Given the description of an element on the screen output the (x, y) to click on. 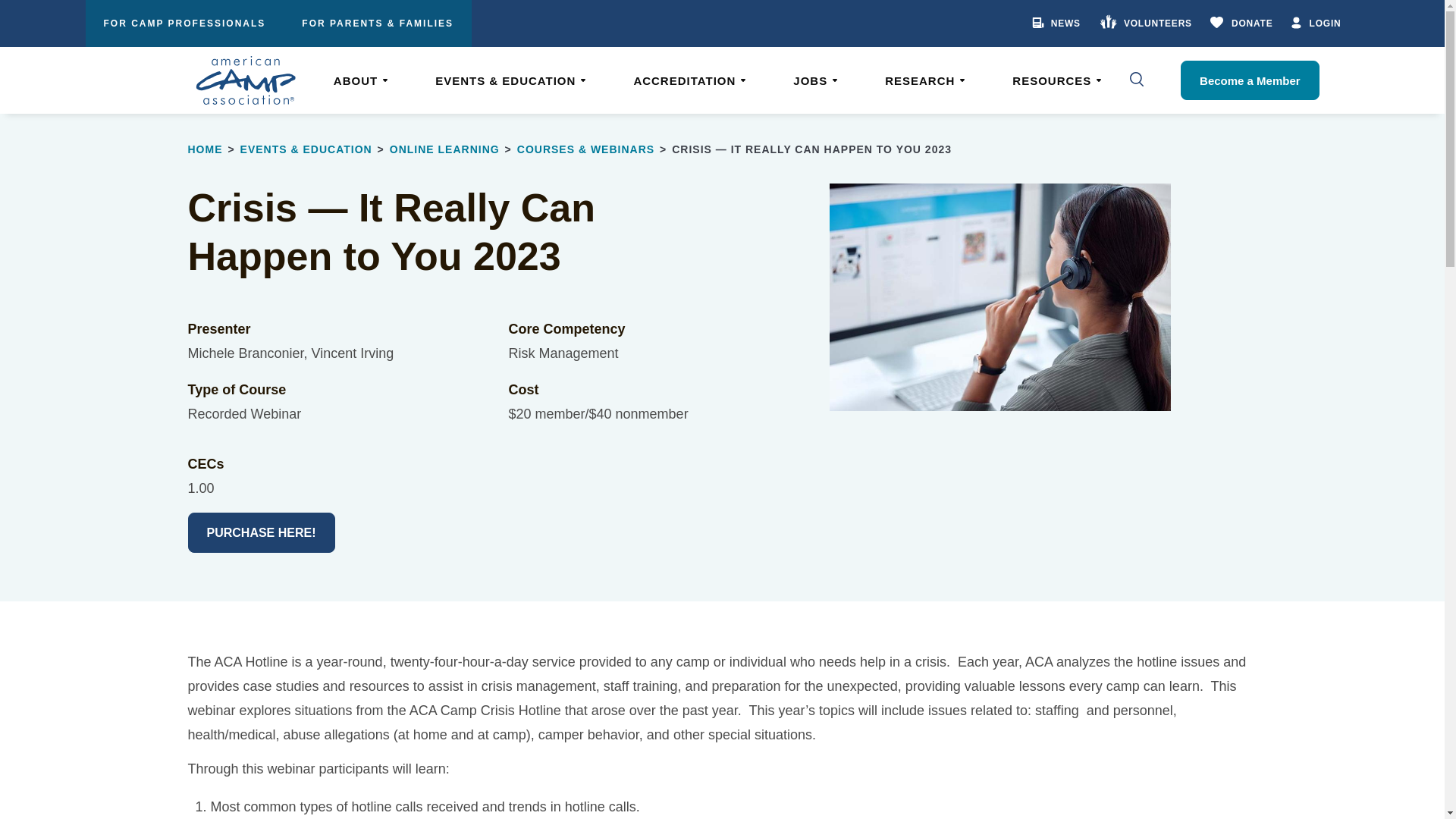
VOLUNTEERS (1154, 23)
FOR CAMP PROFESSIONALS (183, 23)
DONATE (1250, 23)
NEWS (1065, 23)
LOGIN (1324, 23)
